Given the description of an element on the screen output the (x, y) to click on. 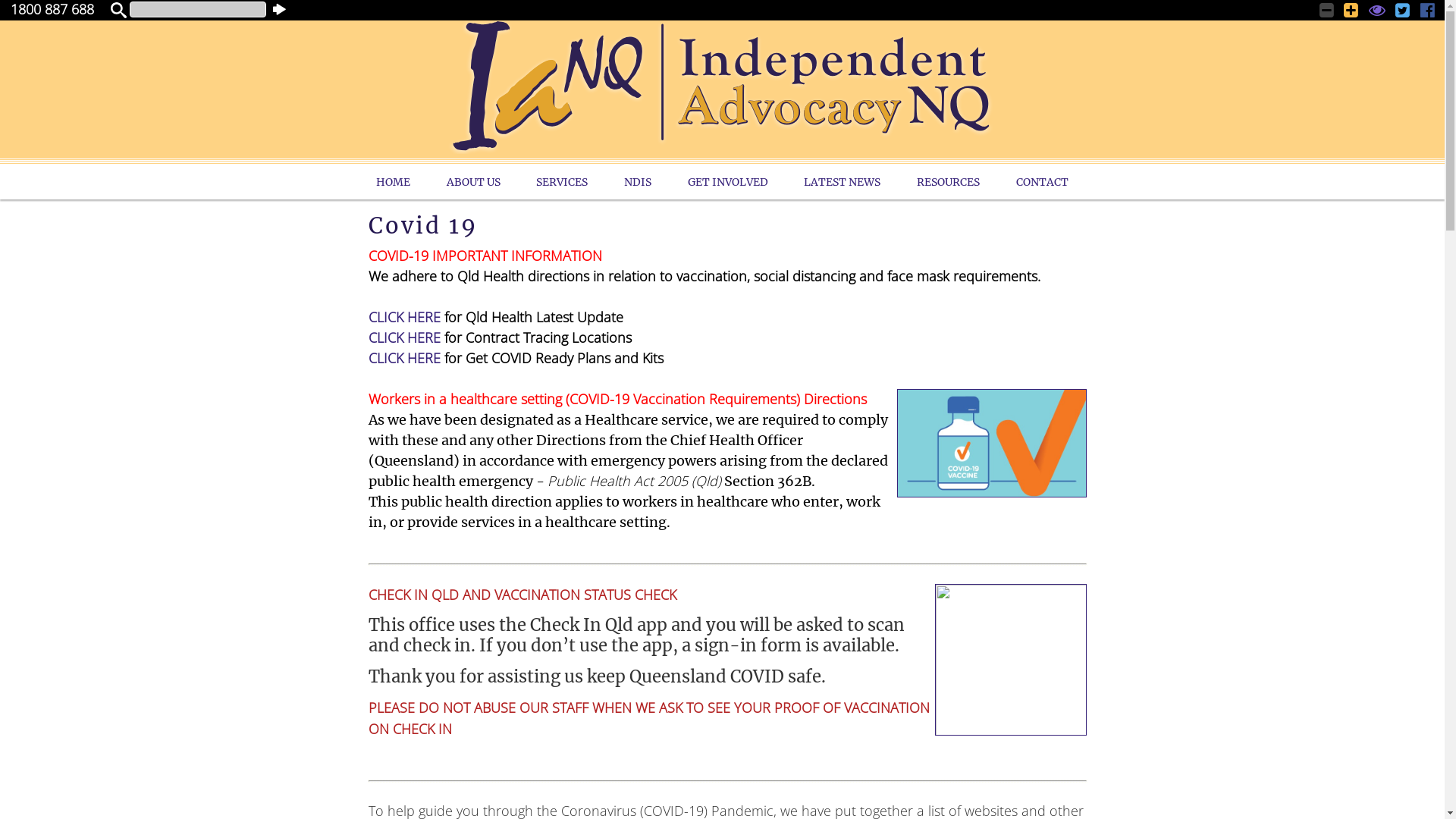
CLICK HERE Element type: text (404, 316)
SERVICES Element type: text (562, 181)
CLICK HERE Element type: text (404, 357)
RESOURCES Element type: text (948, 181)
NDIS Element type: text (637, 181)
ABOUT US Element type: text (473, 181)
LATEST NEWS Element type: text (842, 181)
GET INVOLVED Element type: text (727, 181)
1800 887 688 Element type: text (52, 9)
CLICK HERE Element type: text (404, 337)
HOME Element type: text (392, 181)
CONTACT Element type: text (1041, 181)
